Given the description of an element on the screen output the (x, y) to click on. 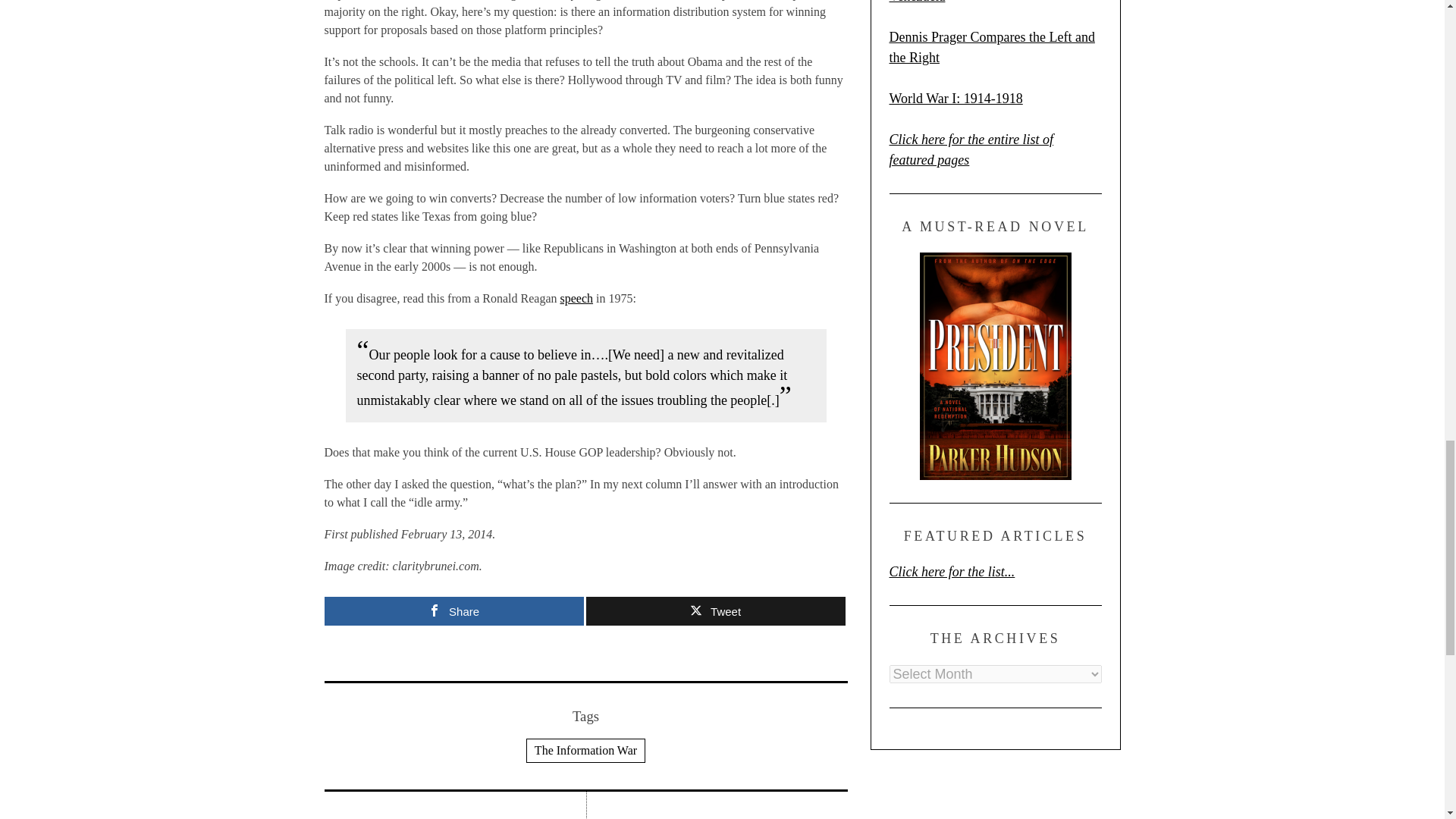
World War I: 1914-1918 (955, 98)
Click here for the entire list of featured pages (970, 149)
A Must-Read Novel (994, 365)
Click here for the list... (951, 571)
Dennis Prager Compares the Left and the Right (991, 47)
Socialism, Bernie Sanders, and Venezuela (973, 1)
